Given the description of an element on the screen output the (x, y) to click on. 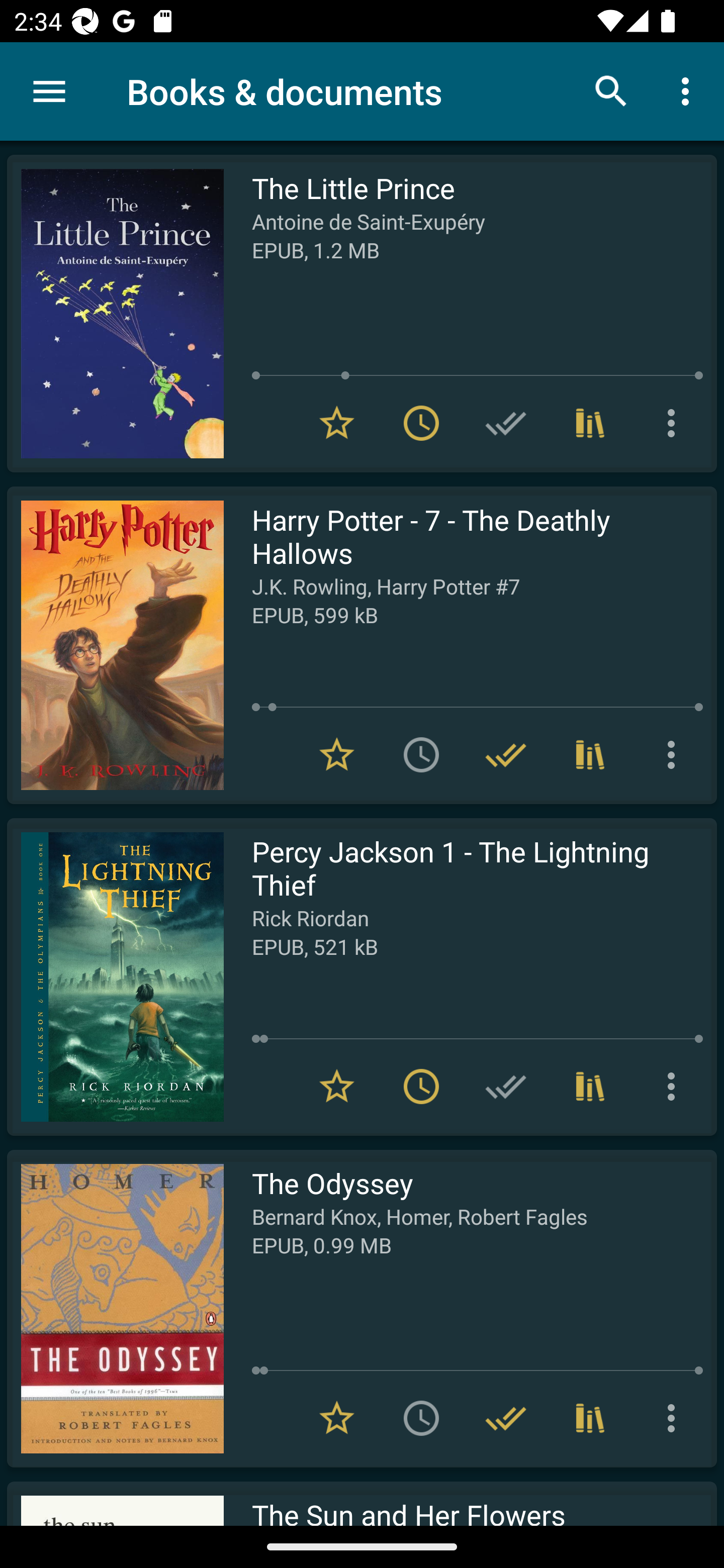
Menu (49, 91)
Search books & documents (611, 90)
More options (688, 90)
Read The Little Prince (115, 313)
Remove from Favorites (336, 423)
Remove from To read (421, 423)
Add to Have read (505, 423)
Collections (1) (590, 423)
More options (674, 423)
Read Harry Potter - 7 - The Deathly Hallows (115, 645)
Remove from Favorites (336, 753)
Add to To read (421, 753)
Remove from Have read (505, 753)
Collections (3) (590, 753)
More options (674, 753)
Read Percy Jackson 1 - The Lightning Thief (115, 976)
Remove from Favorites (336, 1086)
Remove from To read (421, 1086)
Add to Have read (505, 1086)
Collections (1) (590, 1086)
More options (674, 1086)
Read The Odyssey (115, 1308)
Remove from Favorites (336, 1417)
Add to To read (421, 1417)
Remove from Have read (505, 1417)
Collections (3) (590, 1417)
More options (674, 1417)
